Given the description of an element on the screen output the (x, y) to click on. 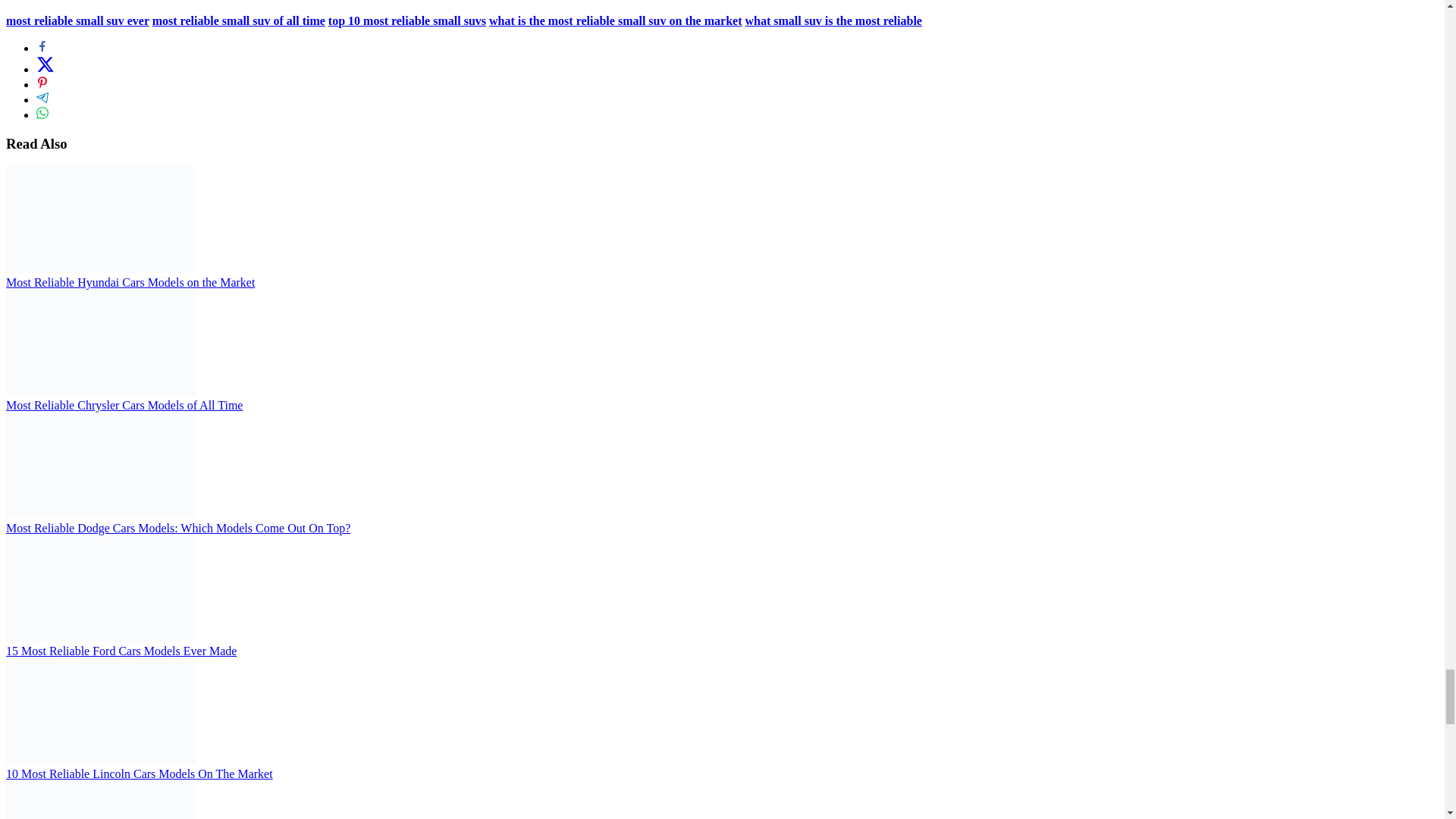
what is the most reliable small suv on the market (615, 20)
most reliable small suv ever (77, 20)
most reliable small suv of all time (238, 20)
top 10 most reliable small suvs (407, 20)
what small suv is the most reliable (832, 20)
